Given the description of an element on the screen output the (x, y) to click on. 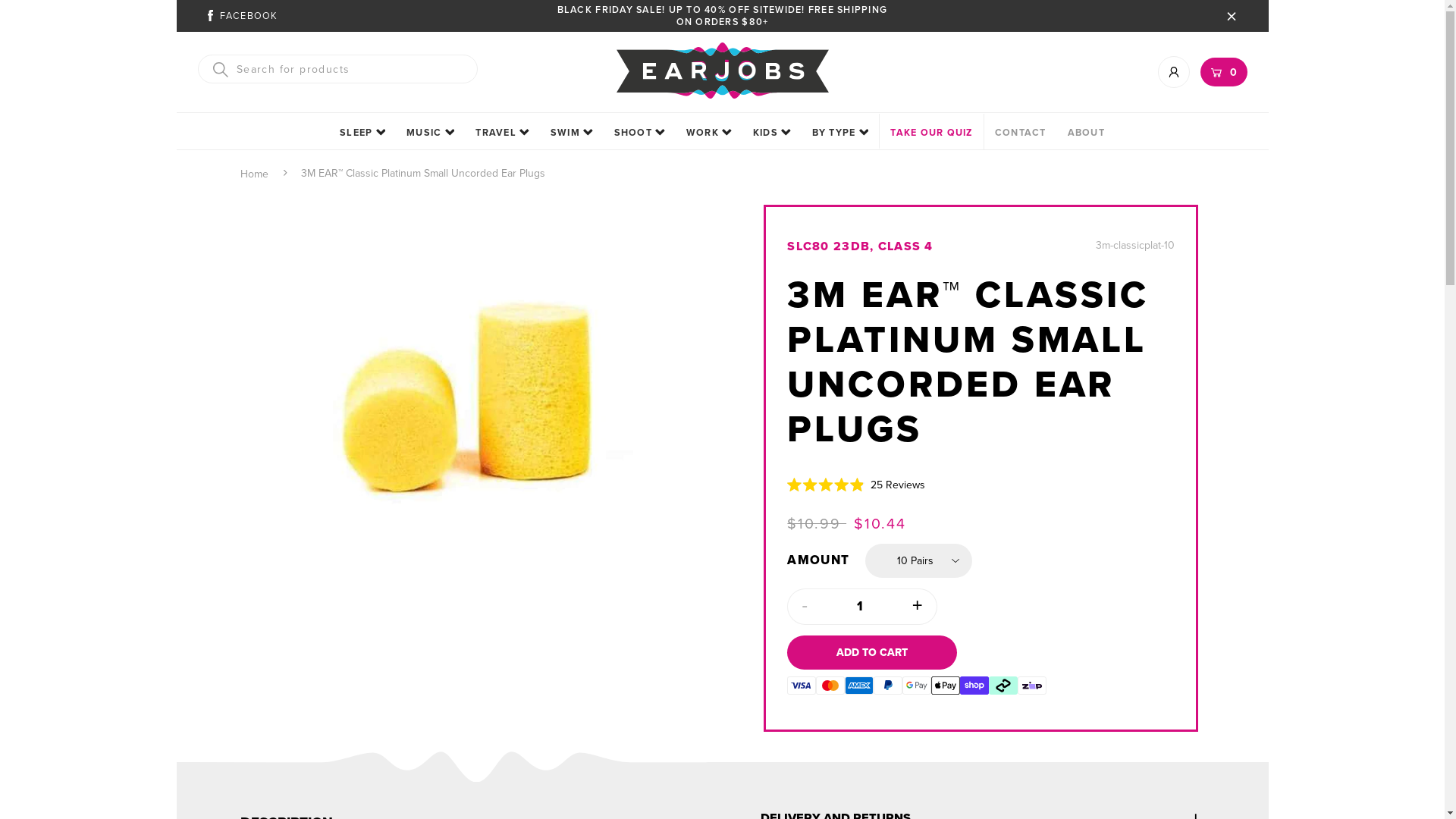
SHOOT Element type: text (639, 132)
BY TYPE Element type: text (840, 132)
CONTACT Element type: text (1020, 132)
WORK Element type: text (708, 132)
SLEEP Element type: text (362, 132)
ABOUT Element type: text (1085, 132)
SWIM Element type: text (571, 132)
KIDS Element type: text (771, 132)
TRAVEL Element type: text (501, 132)
- Element type: text (804, 606)
TAKE OUR QUIZ Element type: text (931, 132)
FACEBOOK Element type: text (240, 15)
ADD TO CART Element type: text (872, 652)
Home Element type: text (253, 173)
MUSIC Element type: text (430, 132)
+ Element type: text (917, 606)
